Given the description of an element on the screen output the (x, y) to click on. 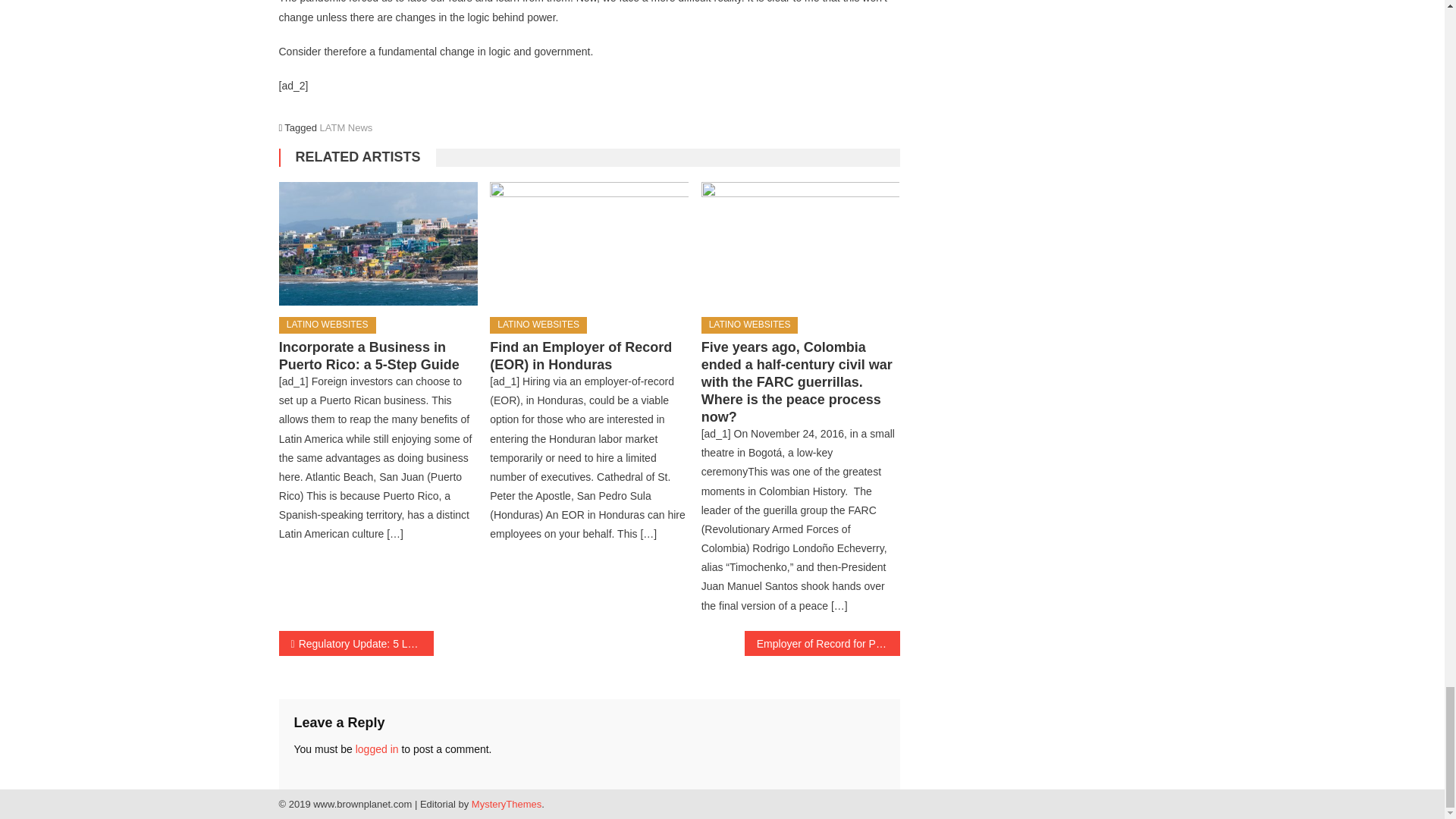
Incorporate a Business in Puerto Rico: a 5-Step Guide (369, 355)
Incorporate a Business in Puerto Rico: a 5-Step Guide (378, 243)
MysteryThemes (506, 803)
Employer of Record for Payroll Outsourcing in Costa Rica (821, 643)
LATINO WEBSITES (537, 324)
LATINO WEBSITES (327, 324)
logged in (376, 748)
LATM News (346, 127)
LATINO WEBSITES (749, 324)
